Given the description of an element on the screen output the (x, y) to click on. 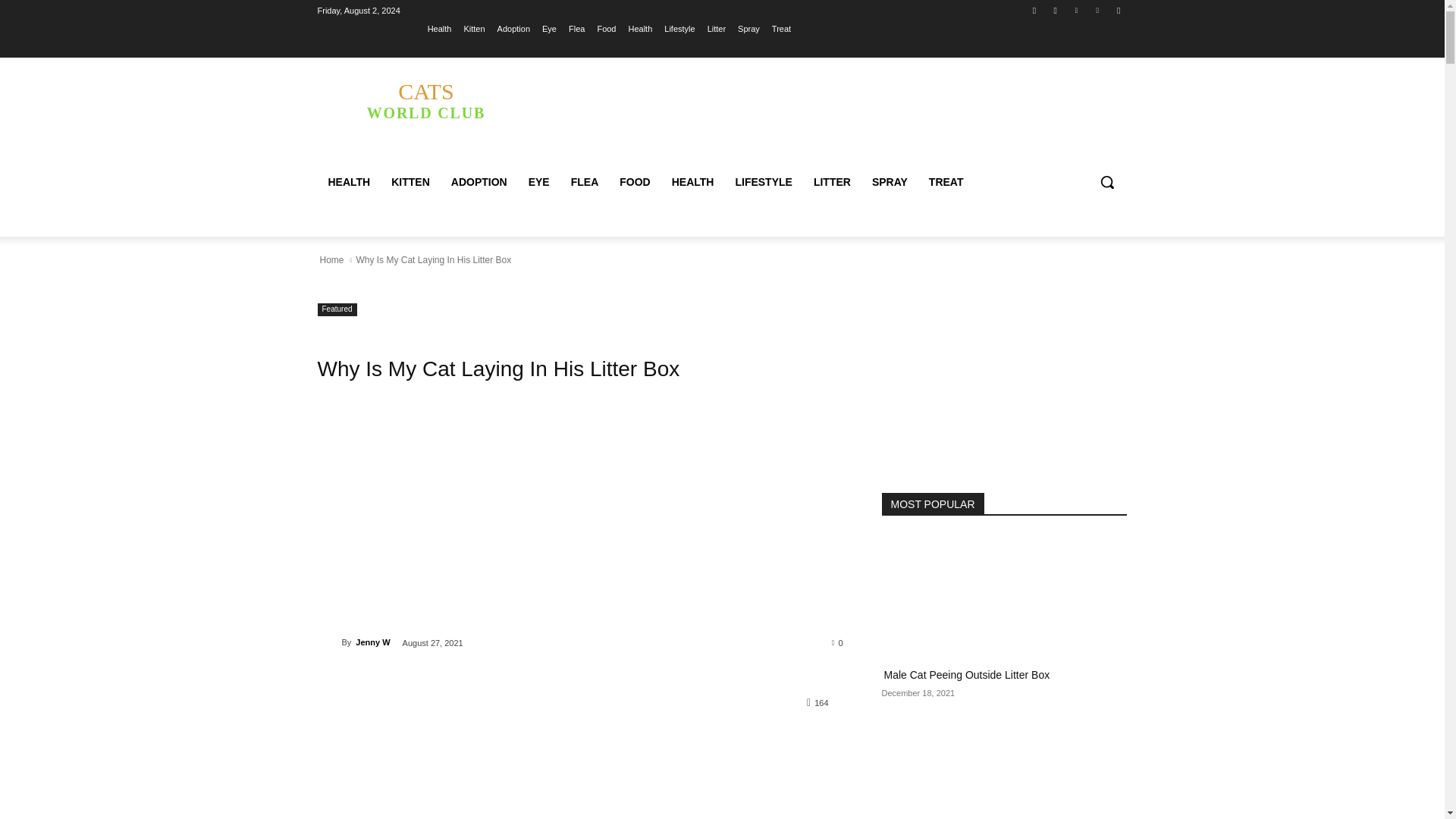
Kitten (473, 28)
Instagram (1055, 9)
Youtube (1117, 9)
Vimeo (1097, 9)
Jenny W (328, 642)
Spray (749, 28)
Adoption (425, 99)
Health (513, 28)
HEALTH (639, 28)
